Given the description of an element on the screen output the (x, y) to click on. 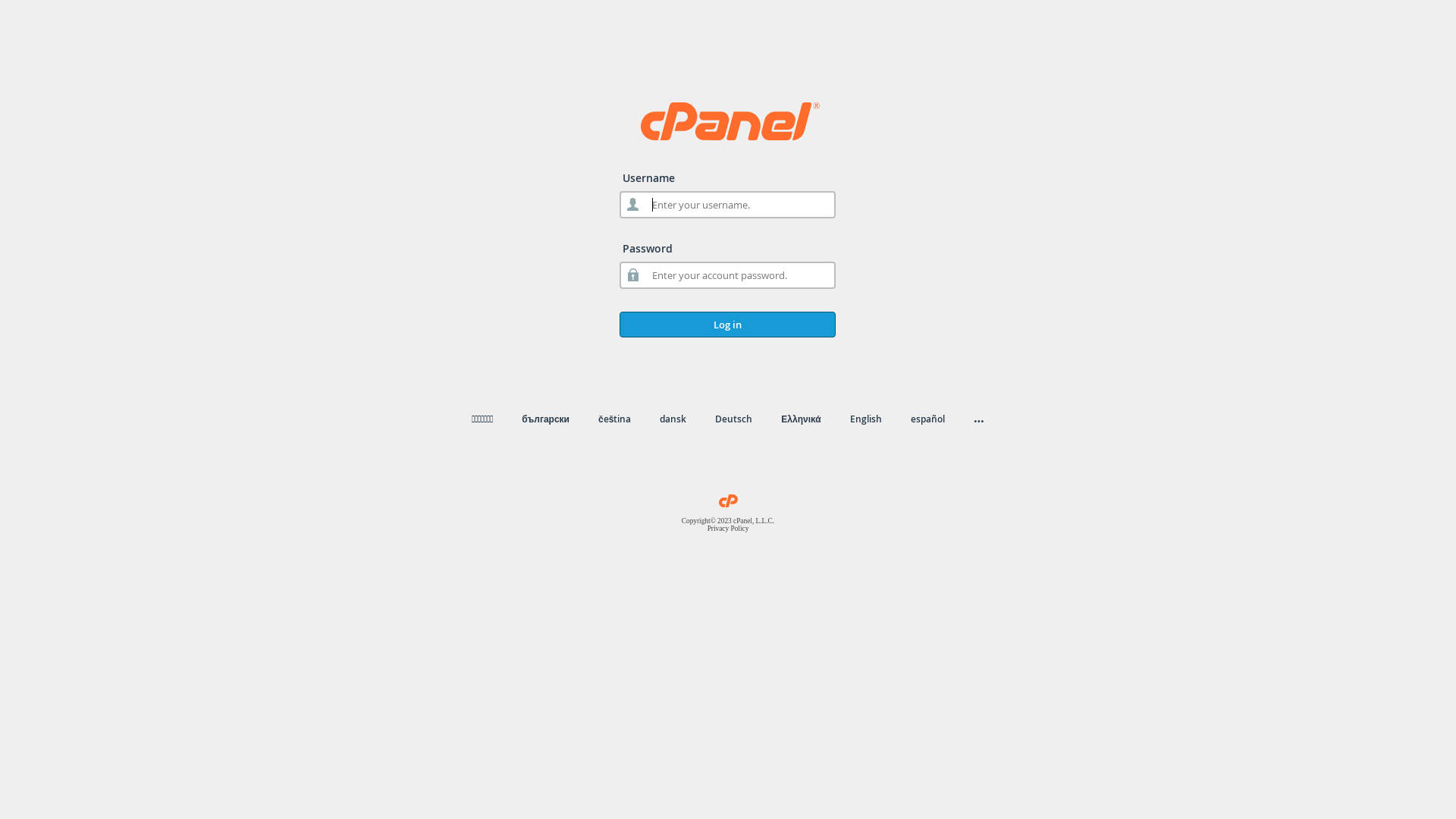
Deutsch Element type: text (733, 418)
dansk Element type: text (672, 418)
Privacy Policy Element type: text (728, 528)
Log in Element type: text (727, 324)
English Element type: text (865, 418)
